Given the description of an element on the screen output the (x, y) to click on. 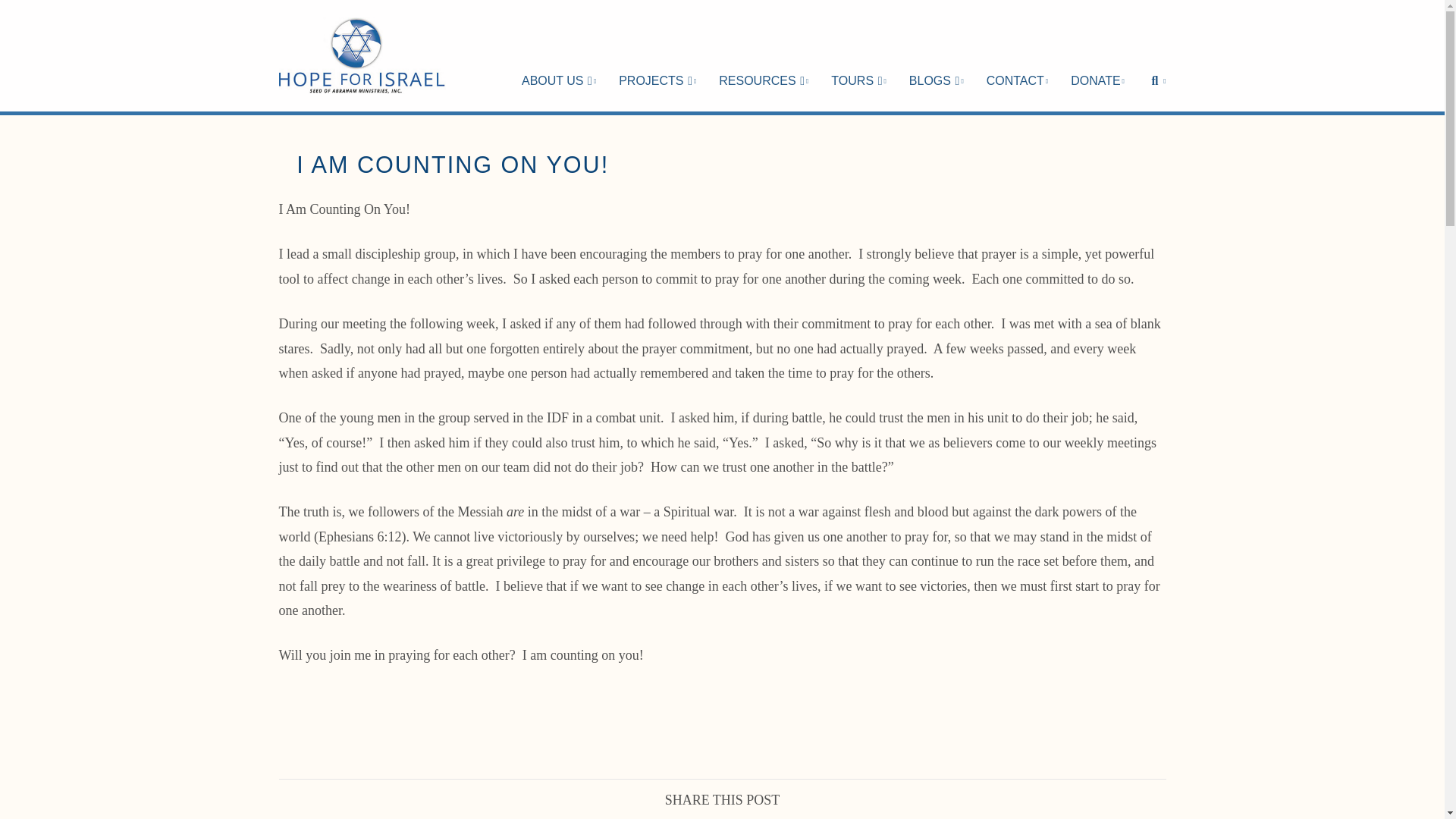
TOURS (857, 54)
BLOGS (936, 54)
DONATE (1097, 54)
ABOUT US (559, 54)
RESOURCES (763, 54)
CONTACT (1017, 54)
PROJECTS (657, 54)
